Given the description of an element on the screen output the (x, y) to click on. 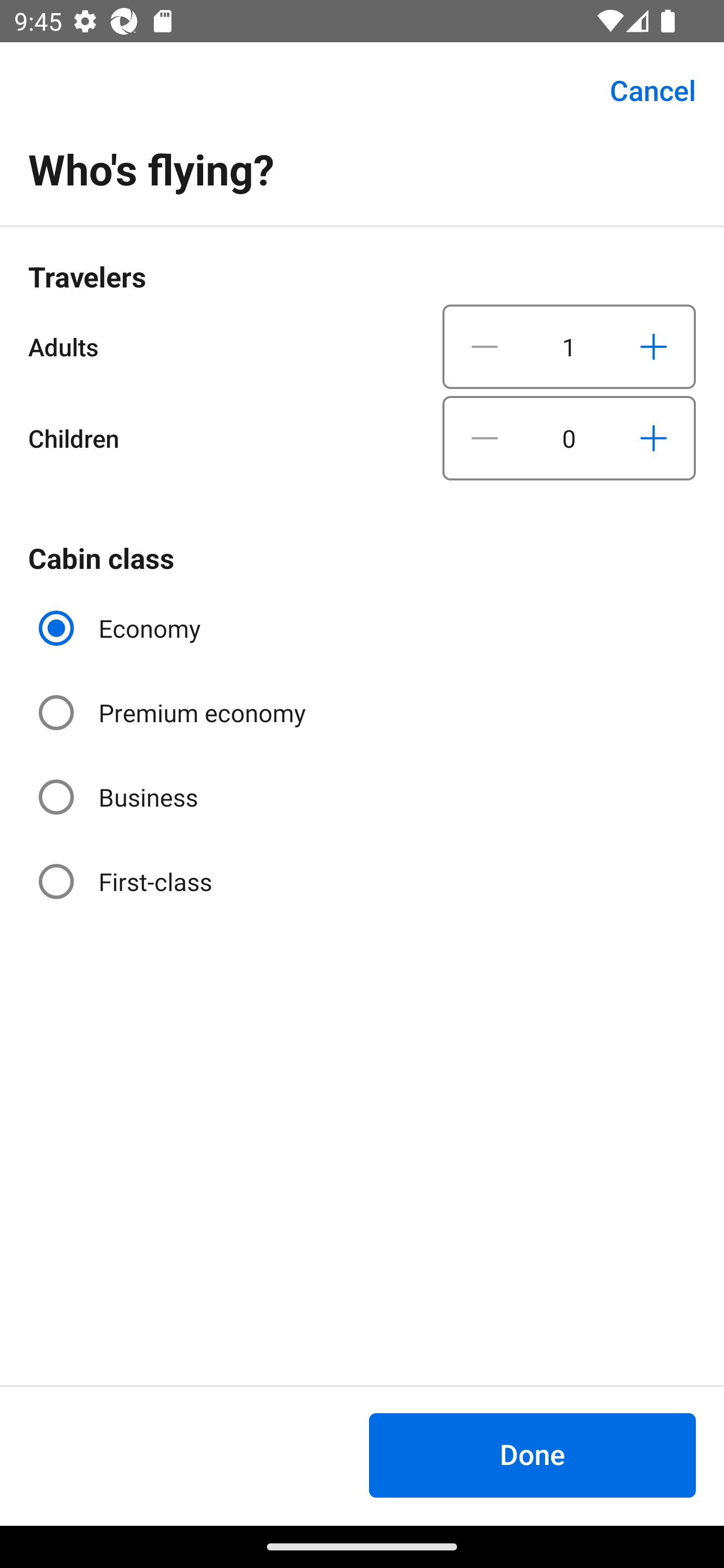
Cancel (641, 90)
Decrease (484, 346)
Increase (653, 346)
Decrease (484, 437)
Increase (653, 437)
Economy (121, 628)
Premium economy (174, 712)
Business (120, 796)
First-class (126, 880)
Done (532, 1454)
